Given the description of an element on the screen output the (x, y) to click on. 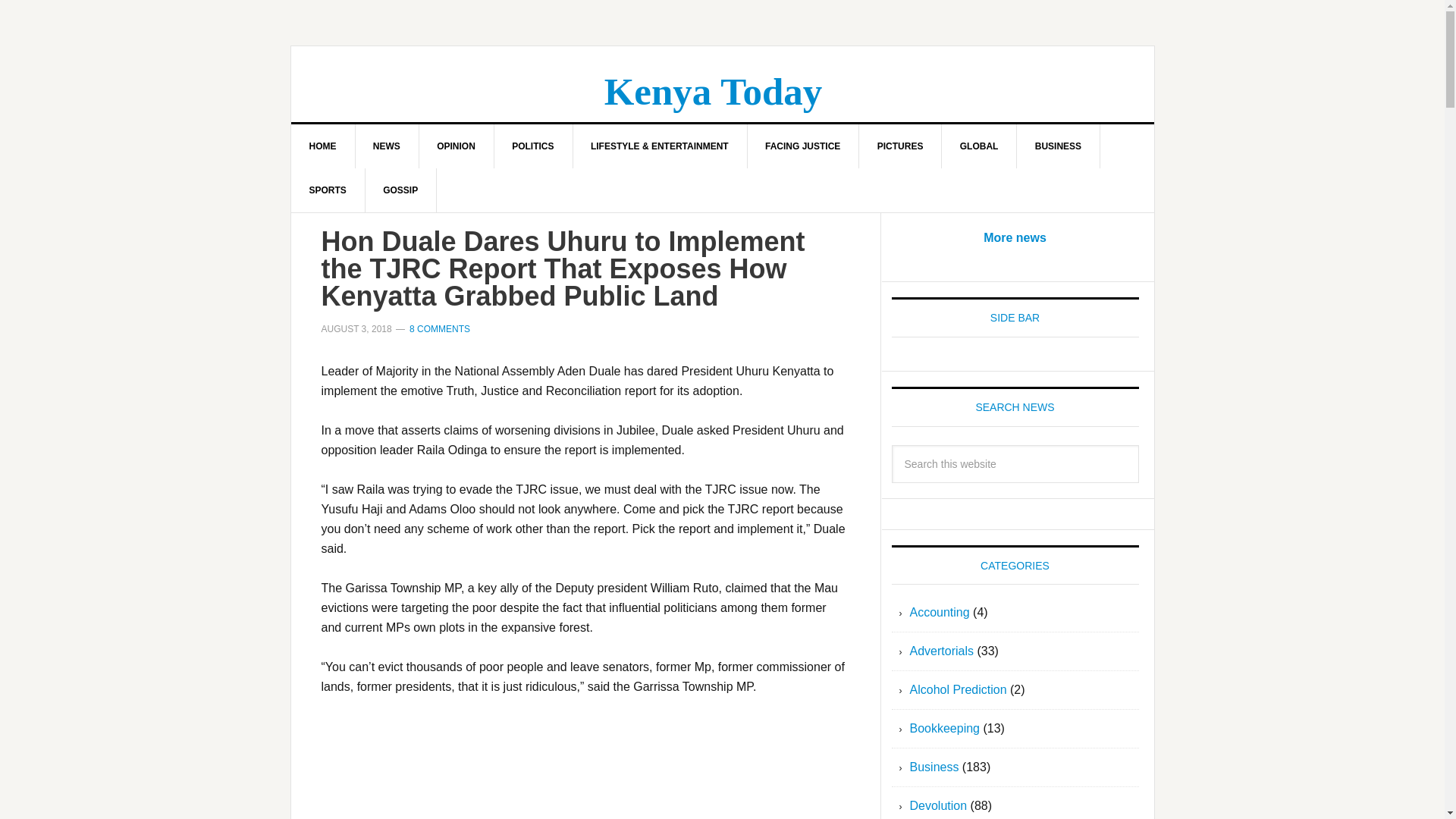
FACING JUSTICE (802, 146)
HOME (323, 146)
BUSINESS (1058, 146)
GOSSIP (400, 190)
GLOBAL (979, 146)
8 COMMENTS (439, 328)
Kenya Today (713, 91)
POLITICS (532, 146)
NEWS (387, 146)
OPINION (457, 146)
PICTURES (900, 146)
SPORTS (328, 190)
